Given the description of an element on the screen output the (x, y) to click on. 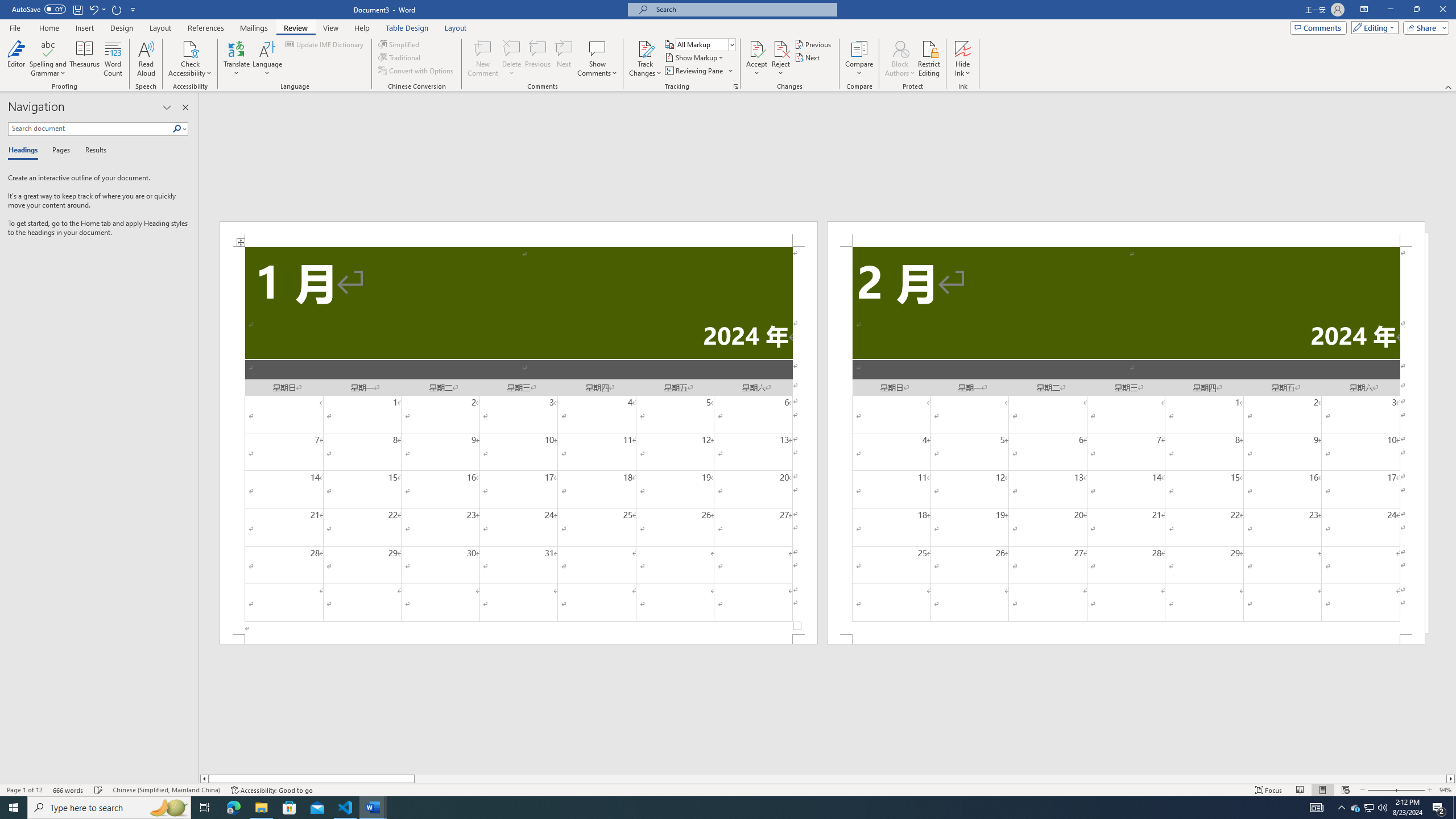
Repeat Doc Close (117, 9)
